Given the description of an element on the screen output the (x, y) to click on. 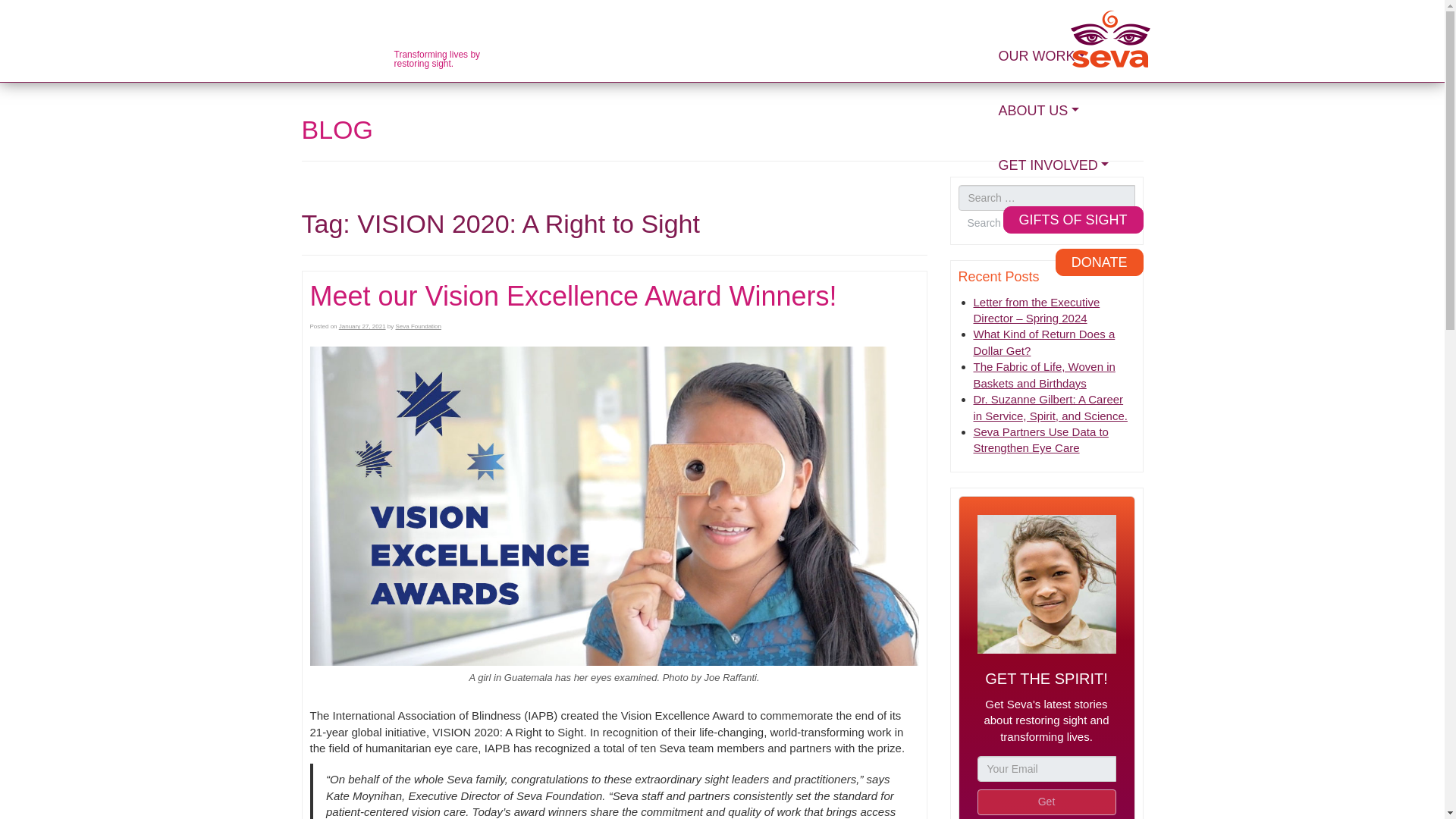
Home (1110, 38)
Seva Foundation (1110, 38)
January 27, 2021 (362, 326)
ABOUT US (1068, 117)
5:17 pm (362, 326)
GIFTS OF SIGHT (1072, 219)
Seva Foundation (417, 326)
OUR WORK (1068, 62)
Meet our Vision Excellence Award Winners! (571, 296)
DONATE (1098, 262)
GET INVOLVED (1068, 171)
BLOG (336, 129)
View all posts by Seva Foundation (417, 326)
